Given the description of an element on the screen output the (x, y) to click on. 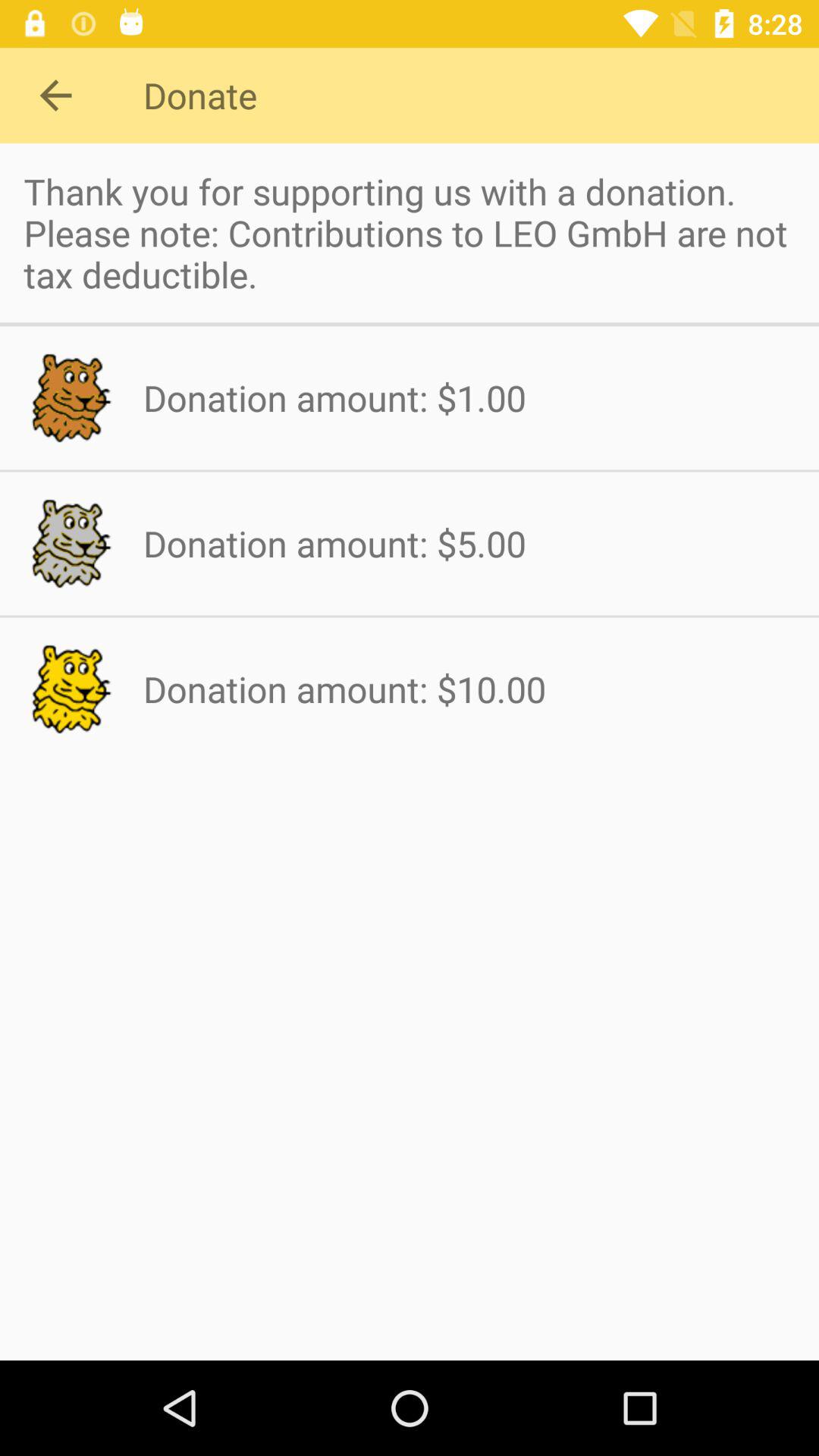
choose the icon above thank you for item (55, 95)
